Given the description of an element on the screen output the (x, y) to click on. 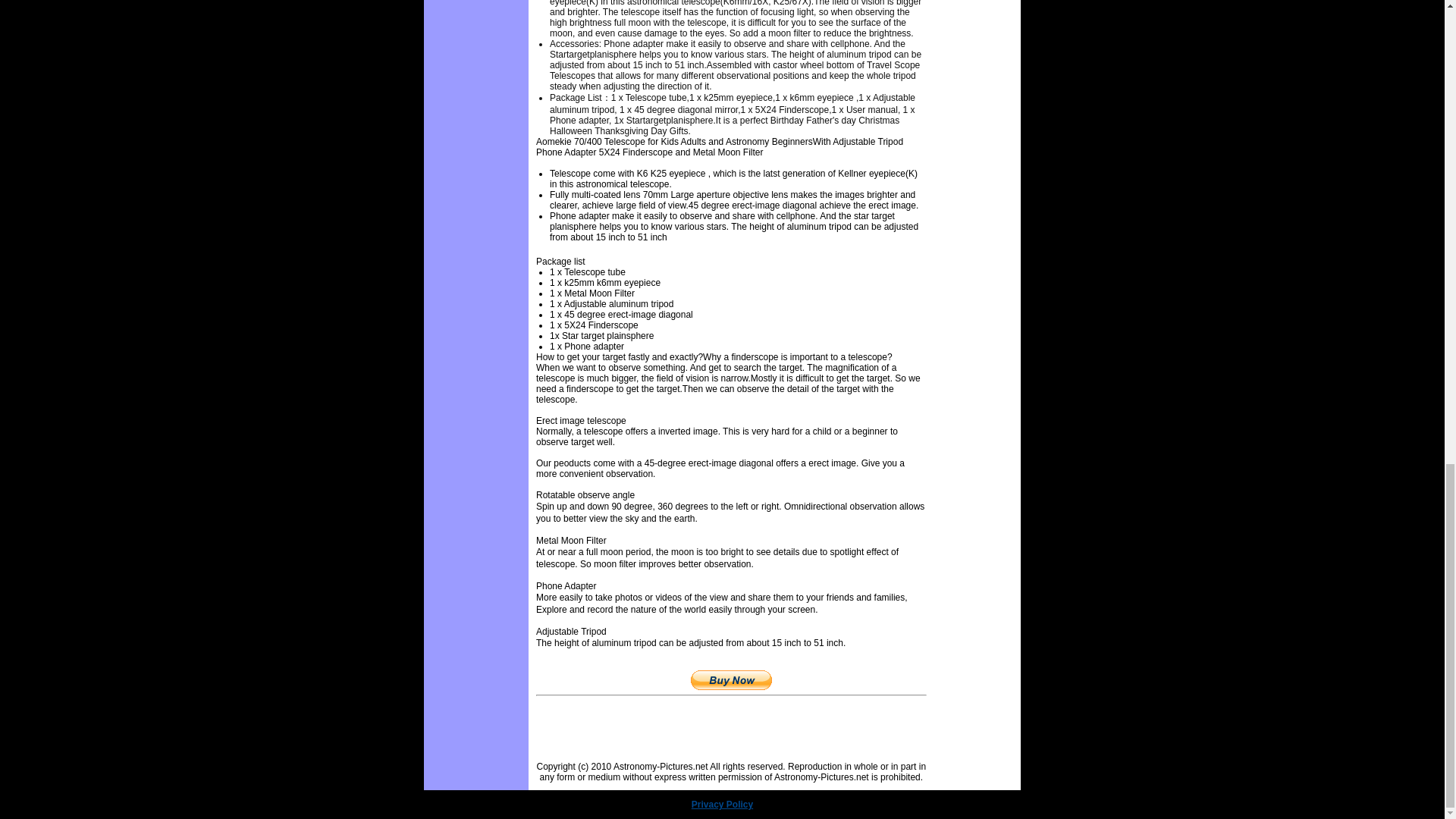
Buy Now (730, 680)
Privacy Policy (721, 804)
